Given the description of an element on the screen output the (x, y) to click on. 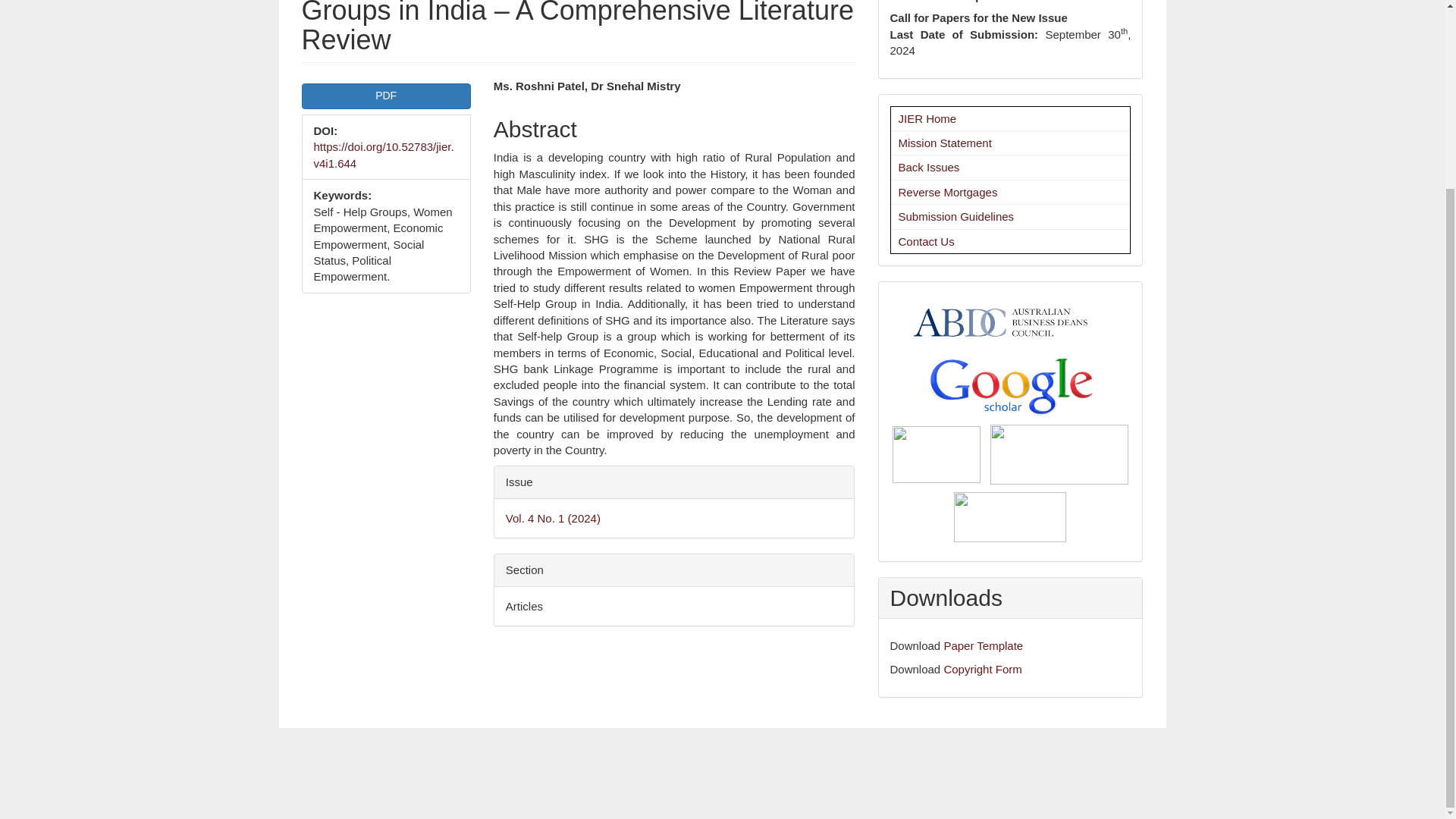
Paper Template (983, 645)
JIER Home (927, 118)
Submission Guidelines (955, 215)
Copyright Form (982, 668)
Contact Us (925, 241)
Reverse Mortgages (947, 192)
PDF (385, 95)
Call for Papers (949, 1)
Back Issues (928, 166)
Mission Statement (944, 142)
